Given the description of an element on the screen output the (x, y) to click on. 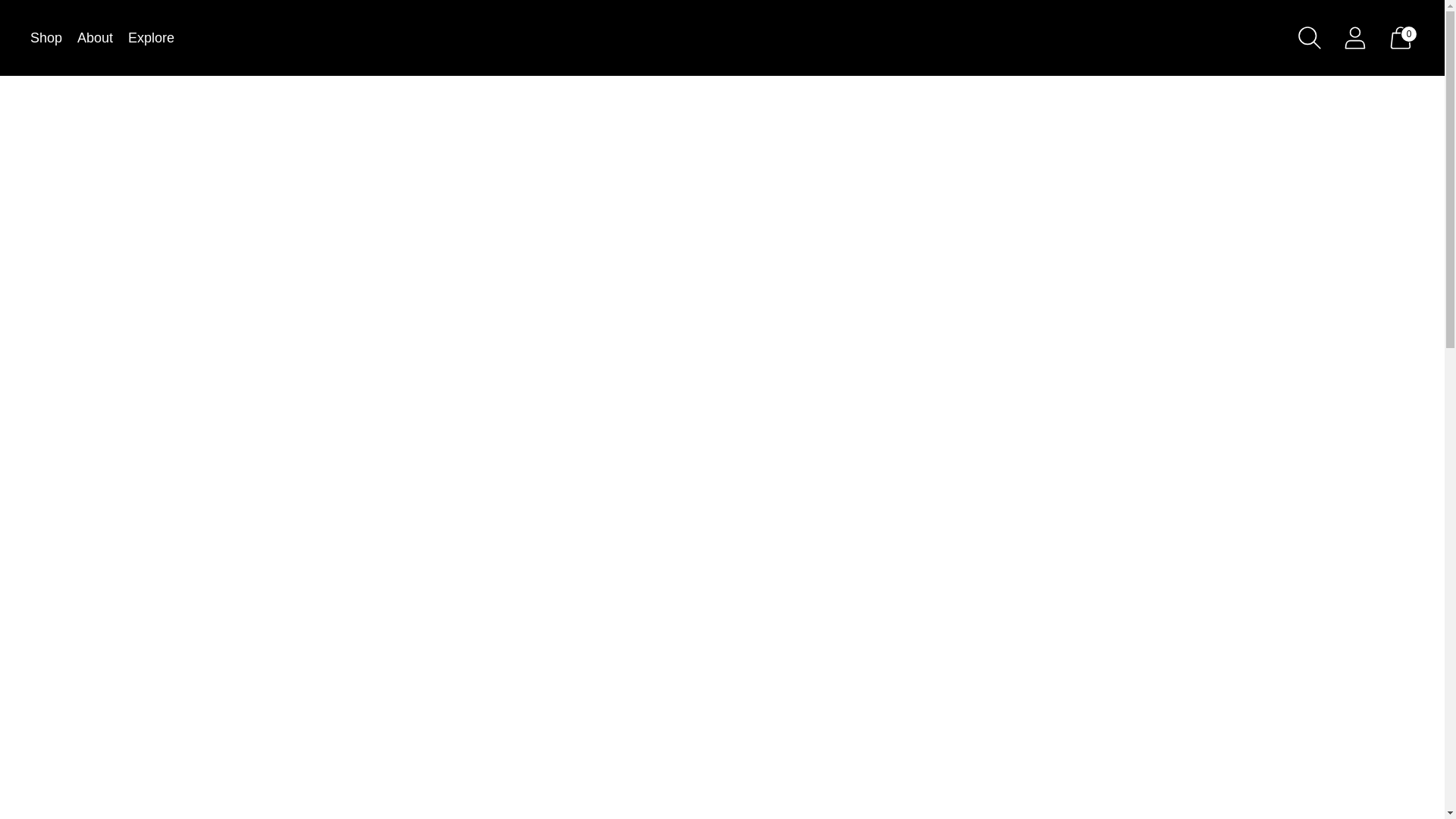
About (95, 37)
0 (1400, 37)
Explore (151, 37)
Shop (46, 37)
